Given the description of an element on the screen output the (x, y) to click on. 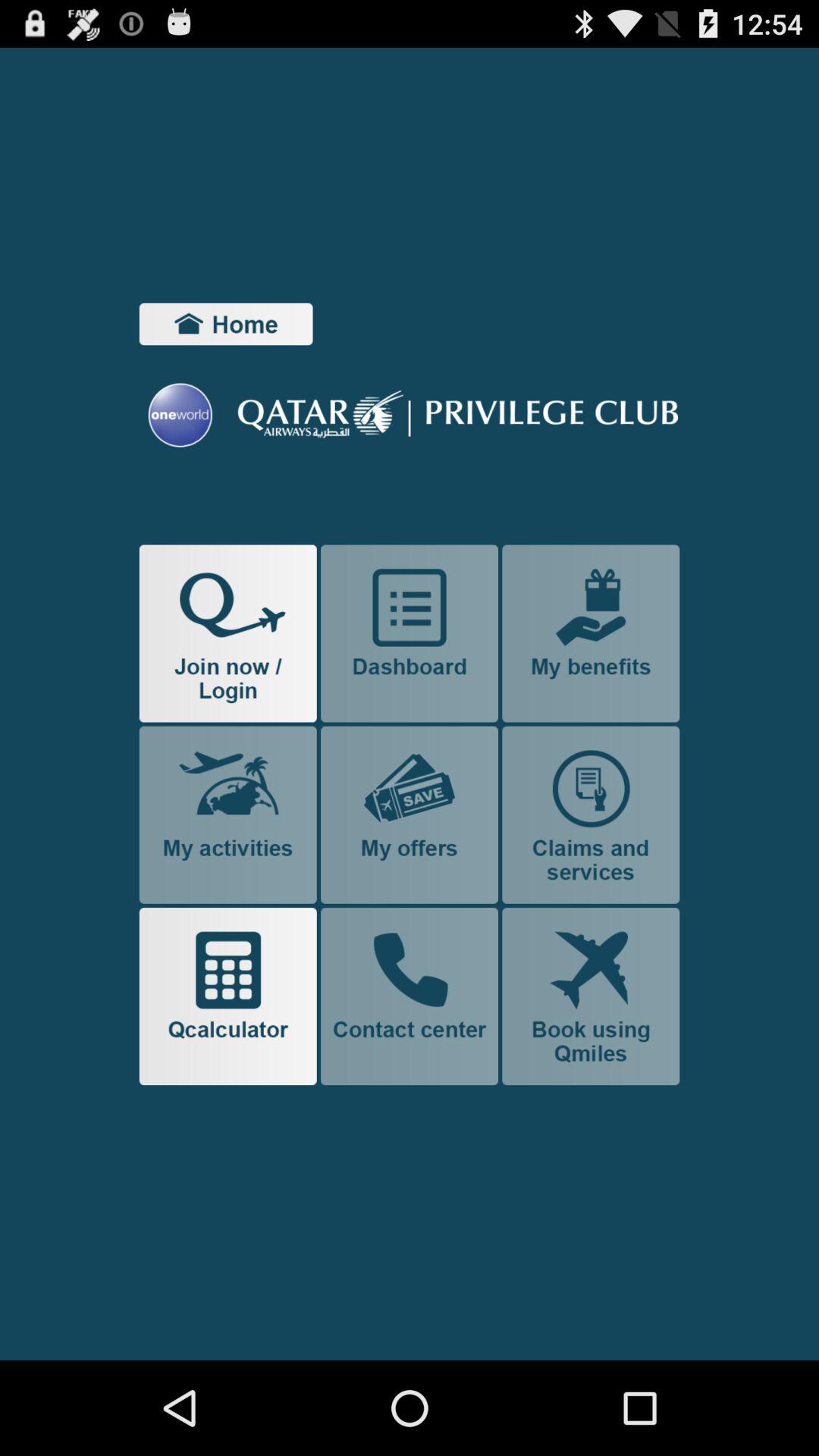
open activities (227, 814)
